Given the description of an element on the screen output the (x, y) to click on. 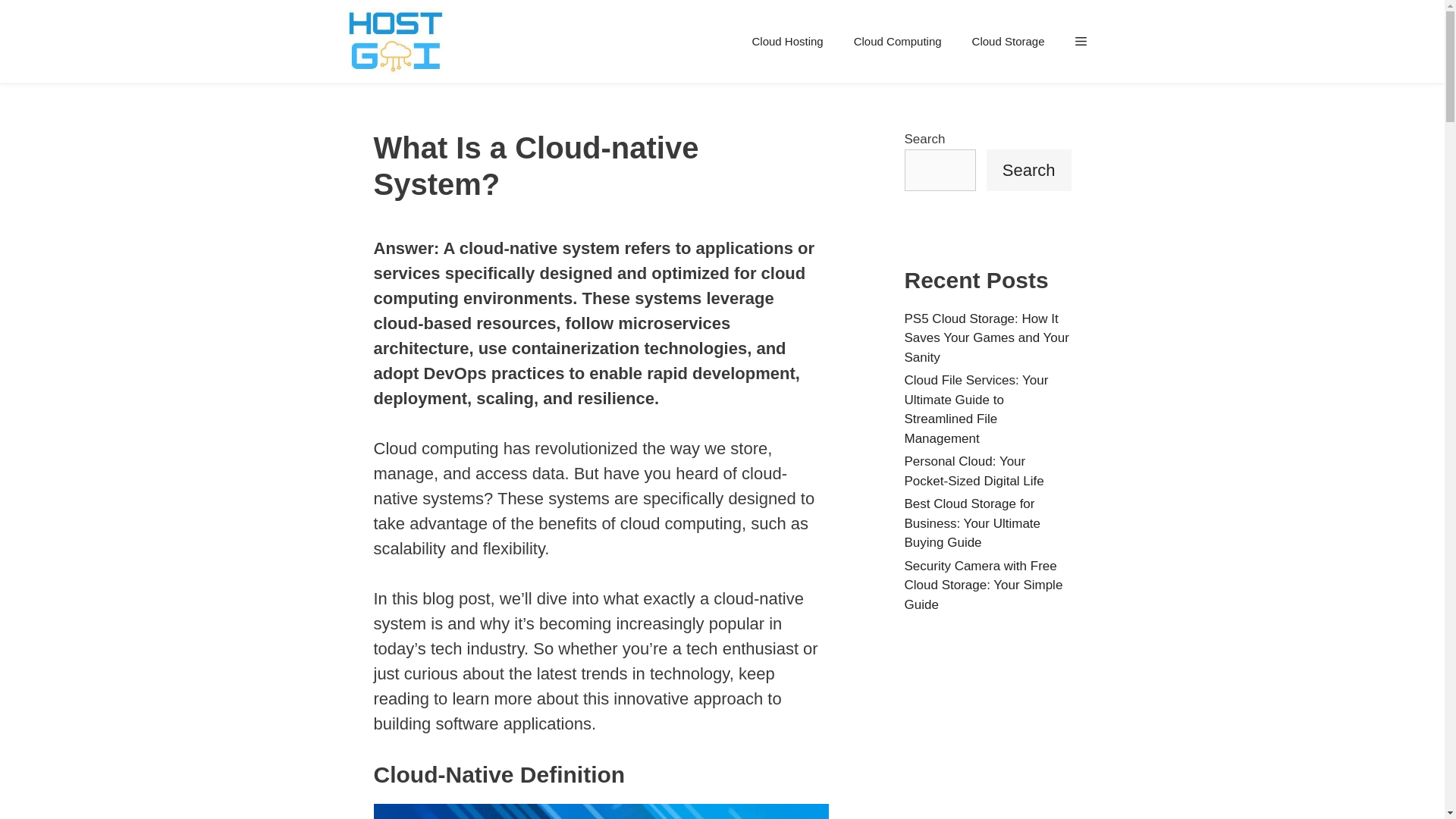
Security Camera with Free Cloud Storage: Your Simple Guide (983, 583)
Best Cloud Storage for Business: Your Ultimate Buying Guide (972, 522)
Personal Cloud: Your Pocket-Sized Digital Life (973, 471)
HostGOI (398, 41)
Cloud Storage (1007, 41)
Search (1029, 169)
PS5 Cloud Storage: How It Saves Your Games and Your Sanity (986, 337)
HostGOI (394, 41)
Cloud Computing (897, 41)
